Given the description of an element on the screen output the (x, y) to click on. 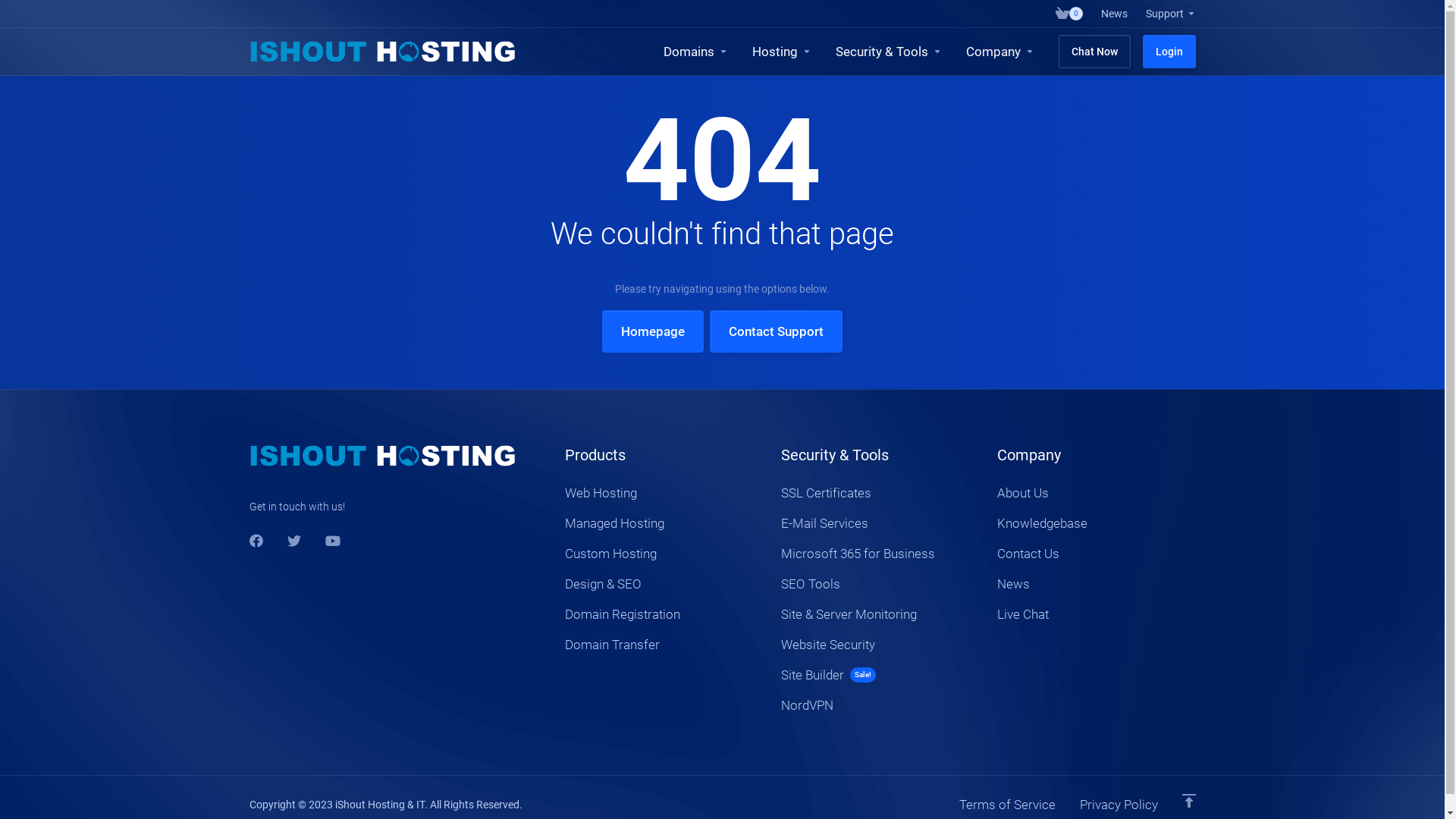
Custom Hosting Element type: text (663, 553)
iShout Hosting & IT Element type: hover (382, 455)
Login Element type: text (1168, 51)
SSL Certificates Element type: text (880, 492)
Domain Transfer Element type: text (663, 644)
Site Builder
Sale! Element type: text (880, 674)
Knowledgebase Element type: text (1096, 523)
SEO Tools Element type: text (880, 583)
Web Hosting Element type: text (663, 492)
Domain Registration Element type: text (663, 614)
Chat Now Element type: text (1094, 51)
News Element type: text (1096, 583)
Domains Element type: text (694, 51)
Hosting Element type: text (781, 51)
Site & Server Monitoring Element type: text (880, 614)
About Us Element type: text (1096, 492)
0 Element type: text (1068, 13)
News Element type: text (1114, 13)
Homepage Element type: text (652, 331)
iShout Hosting & IT Element type: hover (382, 51)
Security & Tools Element type: text (888, 51)
E-Mail Services Element type: text (880, 523)
Support Element type: text (1170, 13)
Live Chat Element type: text (1096, 614)
Design & SEO Element type: text (663, 583)
Contact Us Element type: text (1096, 553)
Website Security Element type: text (880, 644)
NordVPN Element type: text (880, 705)
Microsoft 365 for Business Element type: text (880, 553)
Company Element type: text (999, 51)
Managed Hosting Element type: text (663, 523)
Contact Support Element type: text (775, 331)
